Given the description of an element on the screen output the (x, y) to click on. 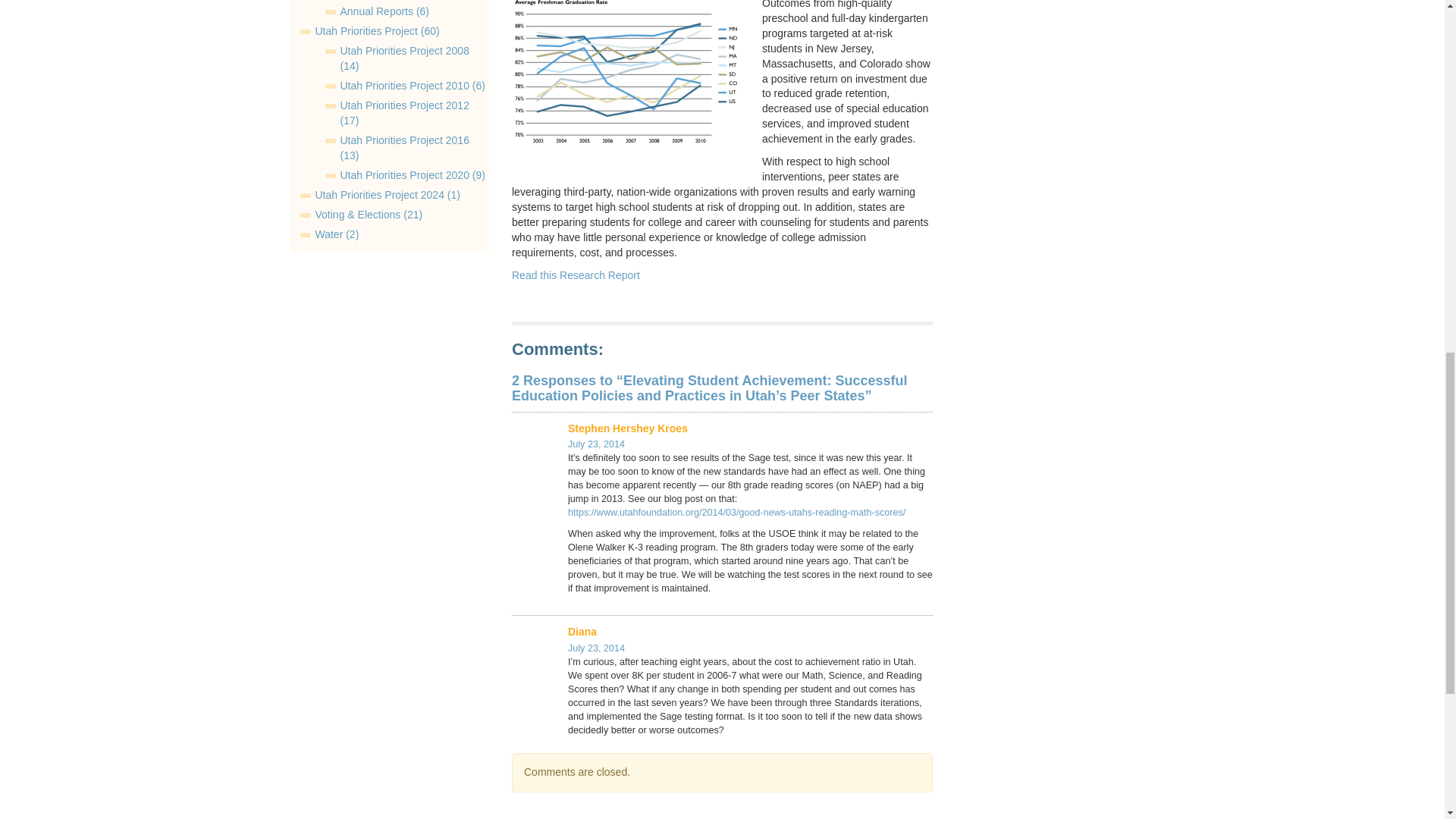
July 23, 2014 (595, 443)
July 23, 2014 (595, 647)
fig20 (625, 75)
Read this Research Report (576, 275)
